Given the description of an element on the screen output the (x, y) to click on. 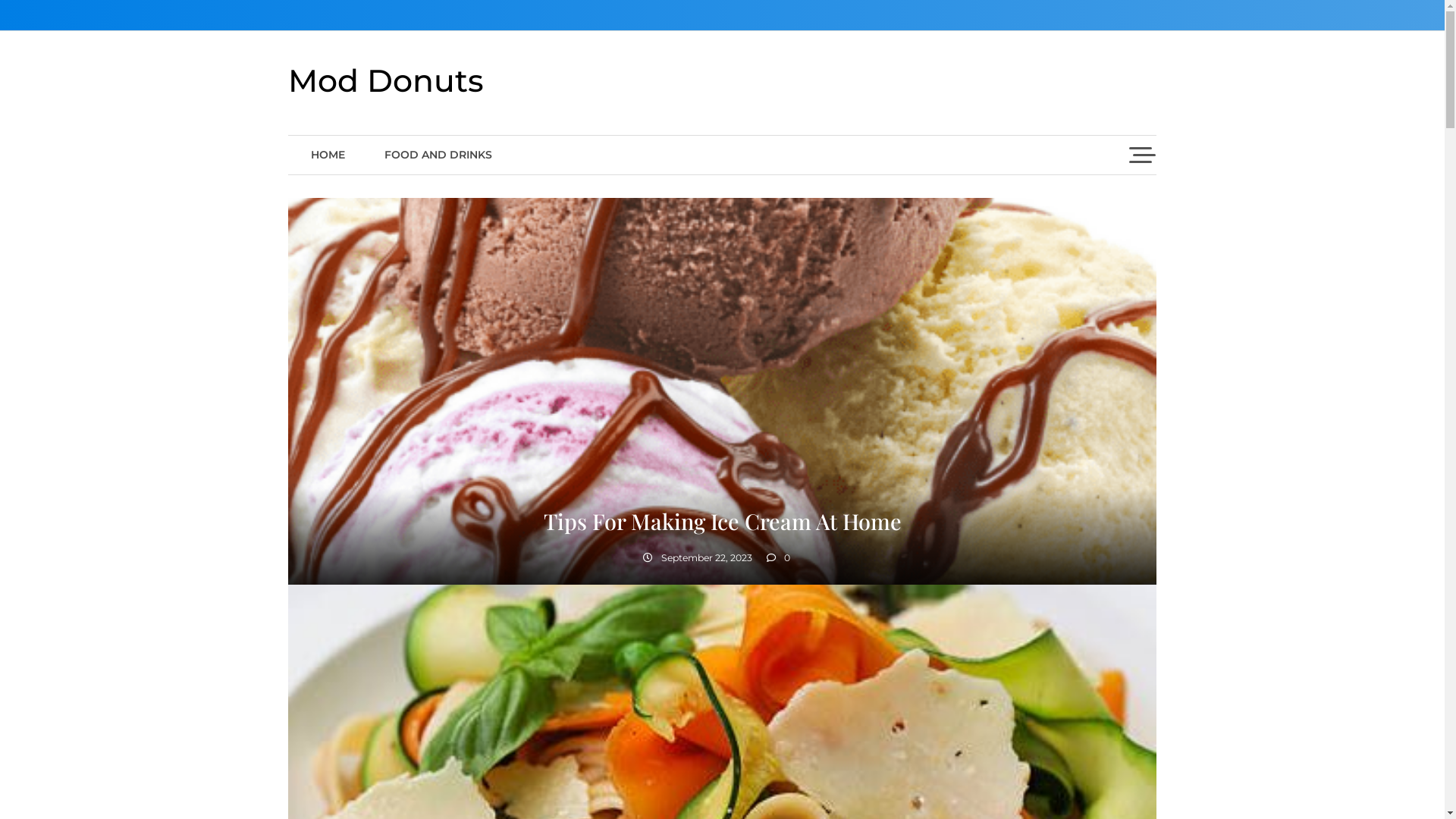
Tips For Making Ice Cream At Home Element type: text (721, 520)
Mod Donuts Element type: text (385, 80)
HOME Element type: text (327, 154)
FOOD AND DRINKS Element type: text (438, 154)
